Given the description of an element on the screen output the (x, y) to click on. 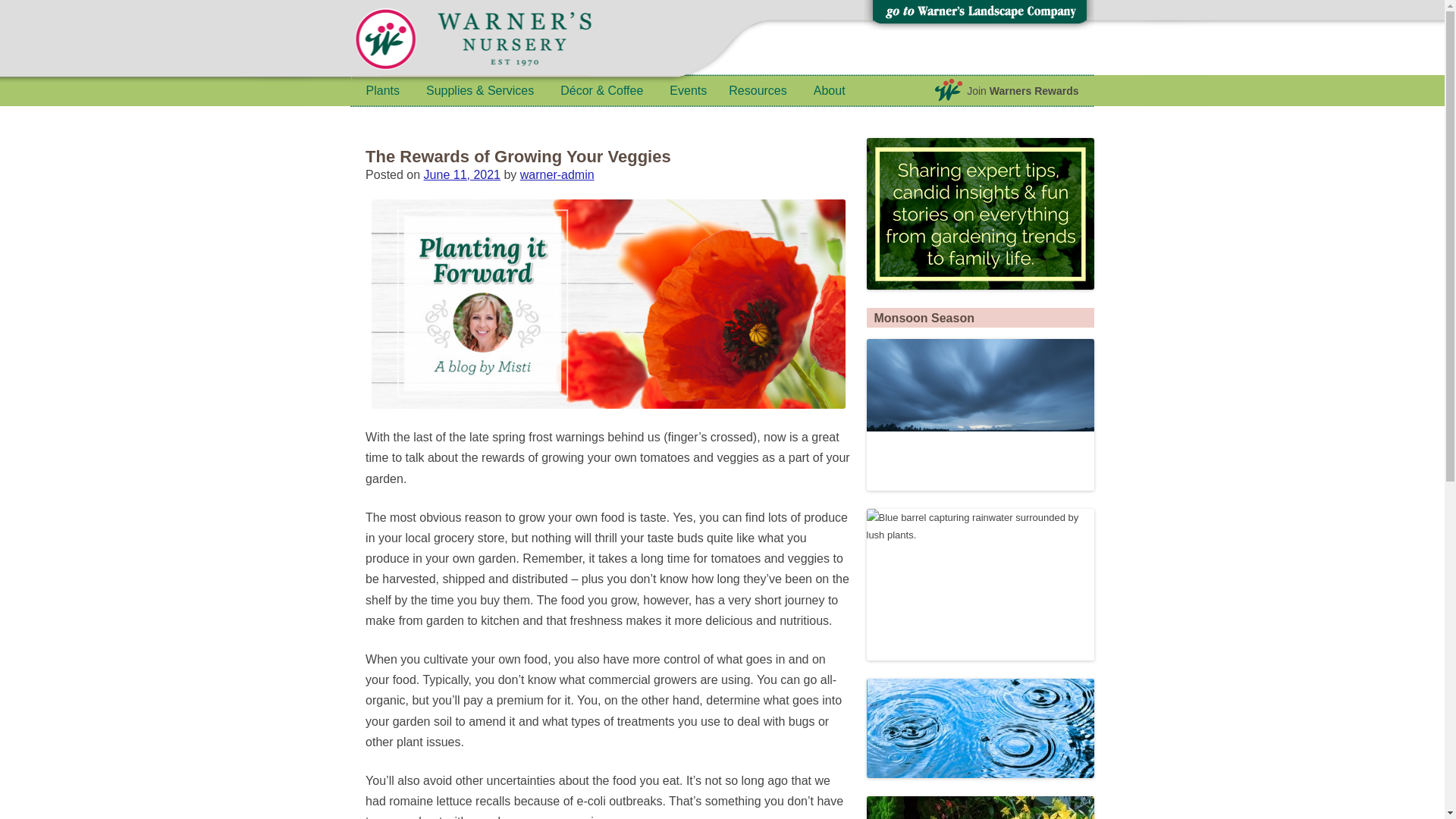
Join Warners Rewards (1007, 90)
Plants (382, 91)
Warner Companies, Inc. (502, 41)
View all posts by warner-admin (556, 174)
Resources (757, 91)
June 11, 2021 (461, 174)
go to Warner's Landscape Company (978, 15)
8:13 am (461, 174)
Warner Companies, Inc. (502, 41)
Events (685, 91)
Contact (1059, 51)
About (829, 91)
warner-admin (556, 174)
